Given the description of an element on the screen output the (x, y) to click on. 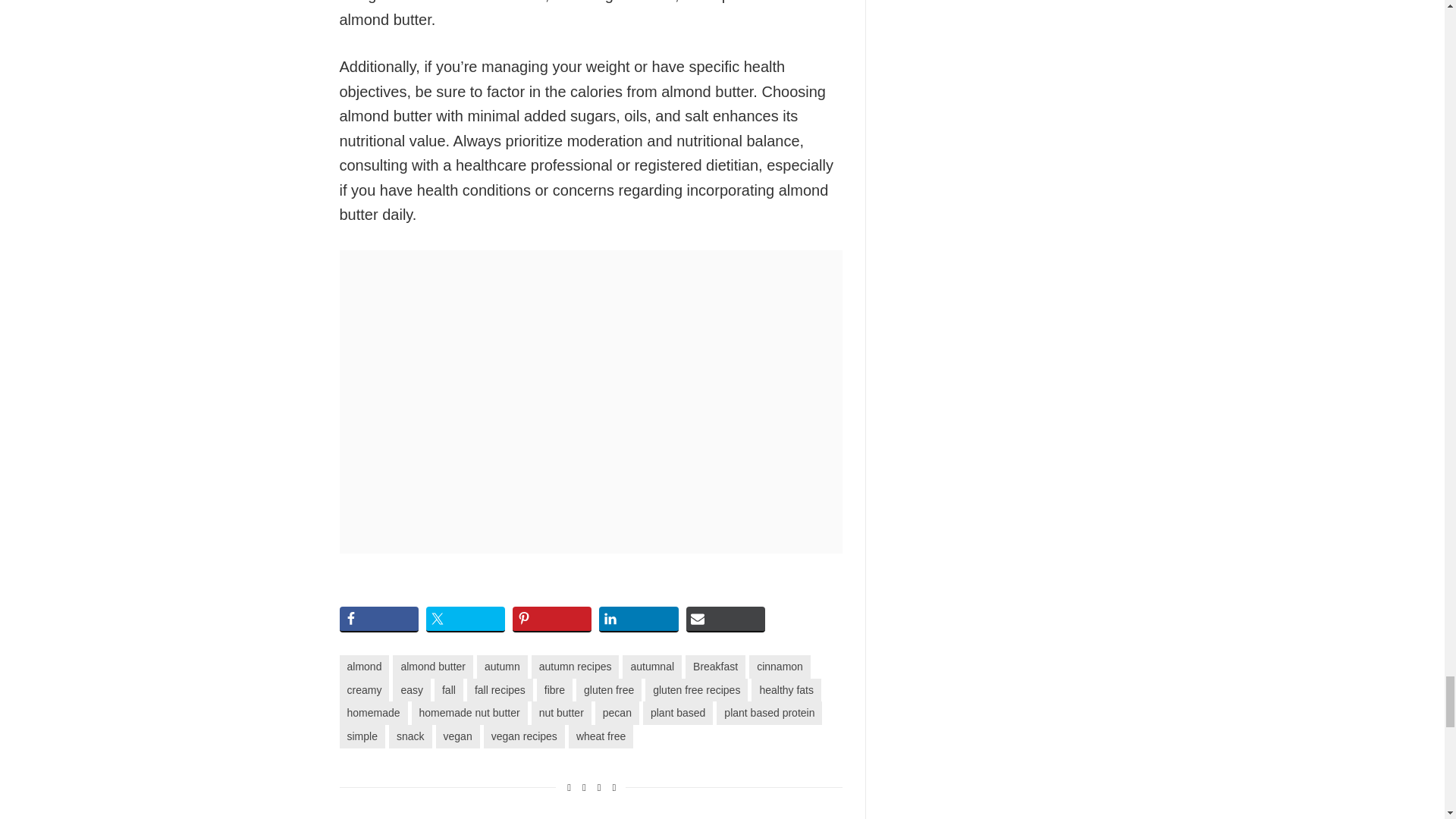
Share on Facebook (379, 619)
Share on LinkedIn (638, 619)
autumn recipes (575, 666)
almond (364, 666)
almond butter (433, 666)
Share via Email (725, 619)
Share on Twitter (465, 619)
Share on Pinterest (551, 619)
autumn (502, 666)
